Given the description of an element on the screen output the (x, y) to click on. 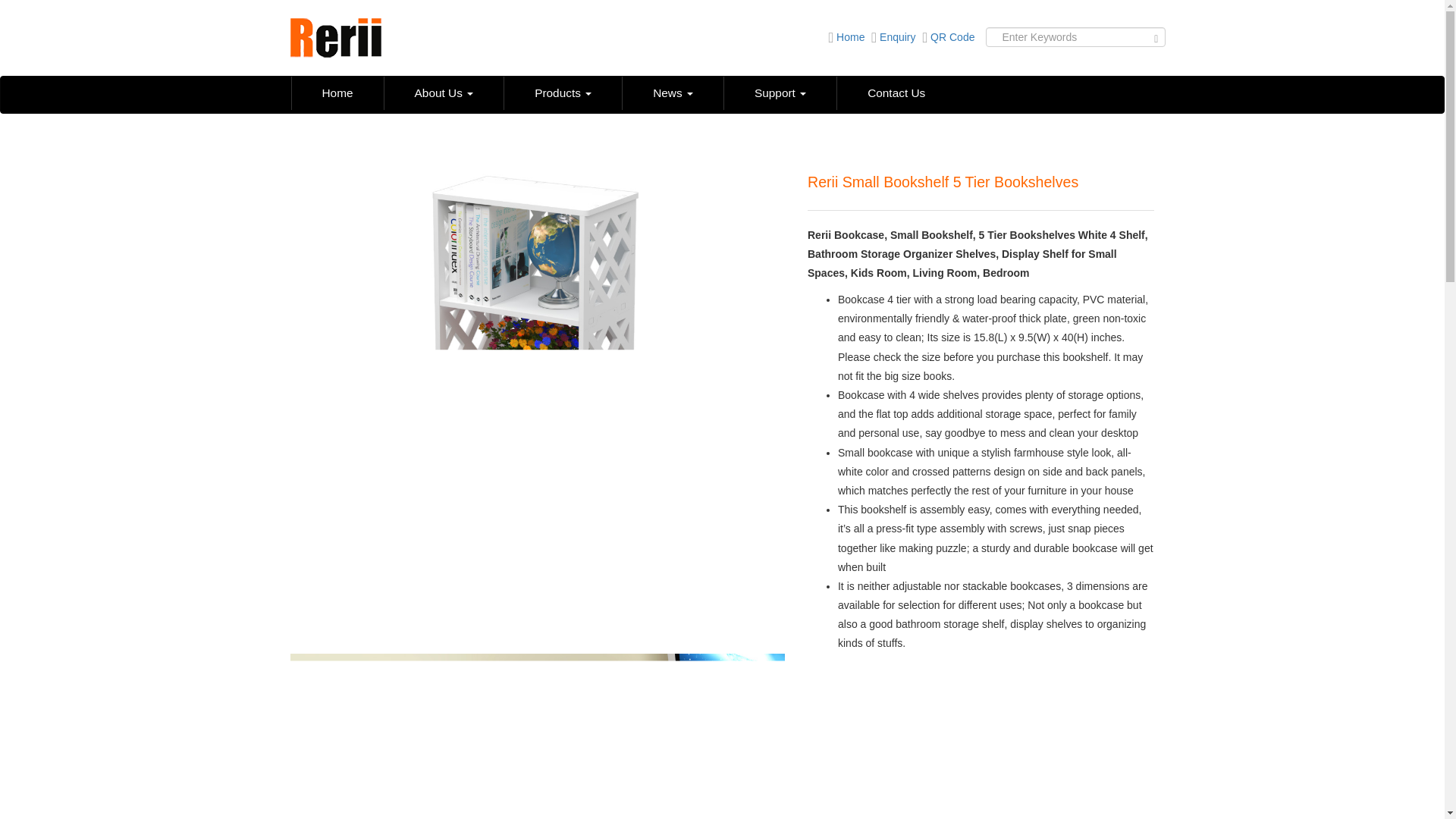
Enquiry (891, 37)
About Us (443, 92)
Products (562, 92)
Support (779, 92)
3 (536, 736)
Home (844, 37)
Contact Us (895, 92)
Home (337, 92)
QR Code (946, 37)
